Given the description of an element on the screen output the (x, y) to click on. 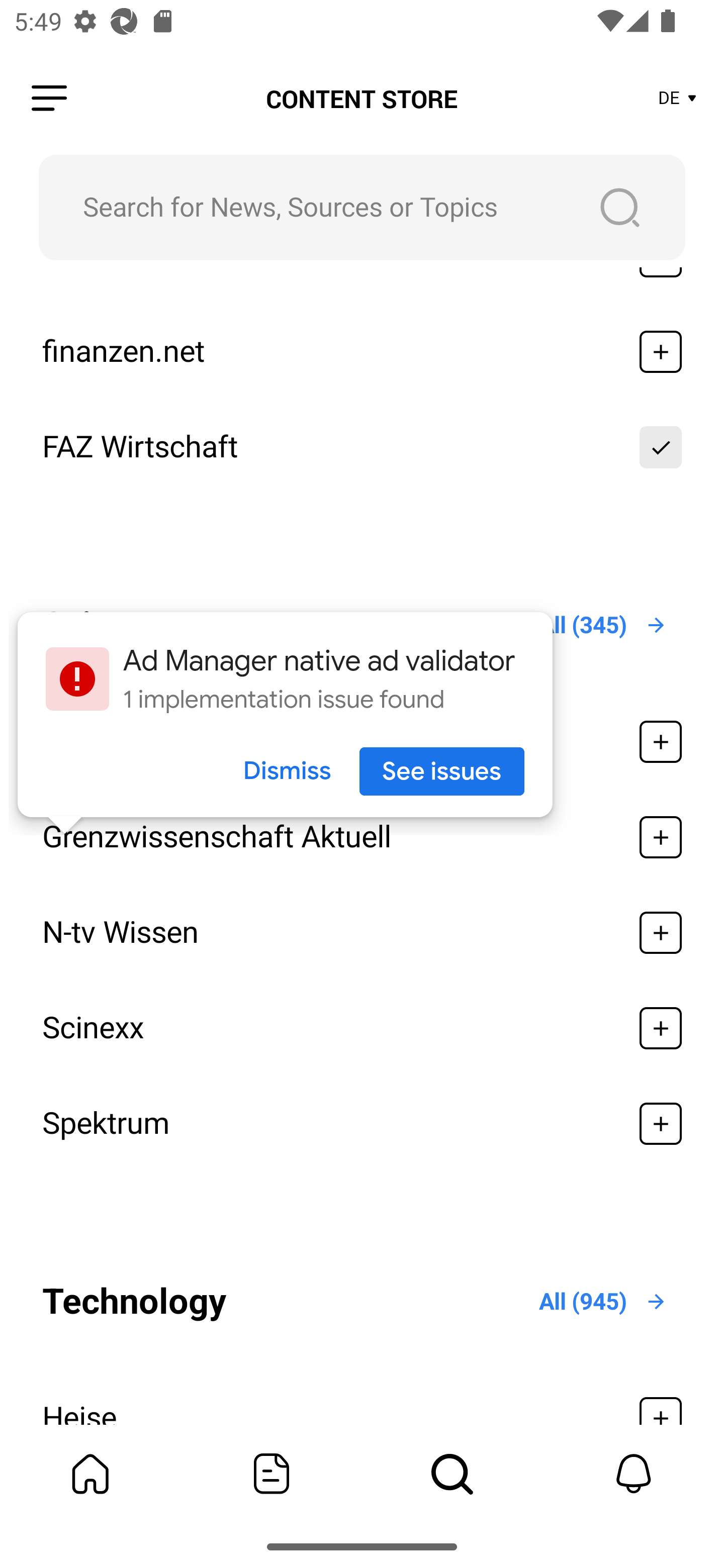
DE Store Area (677, 98)
Leading Icon (49, 98)
Search for News, Sources or Topics Search Button (361, 207)
finanzen.net Add To My Bundle (361, 350)
Add To My Bundle (660, 350)
FAZ Wirtschaft Add To My Bundle (361, 446)
Add To My Bundle (660, 446)
All (345) Open All Icon (603, 625)
Add To My Bundle (660, 741)
Grenzwissenschaft Aktuell Add To My Bundle (361, 836)
Add To My Bundle (660, 836)
N-tv Wissen Add To My Bundle (361, 932)
Add To My Bundle (660, 932)
Scinexx Add To My Bundle (361, 1028)
Add To My Bundle (660, 1028)
Spektrum Add To My Bundle (361, 1123)
Add To My Bundle (660, 1123)
All (945) Open All Icon (603, 1301)
My Bundle (90, 1473)
Featured (271, 1473)
Notifications (633, 1473)
